Given the description of an element on the screen output the (x, y) to click on. 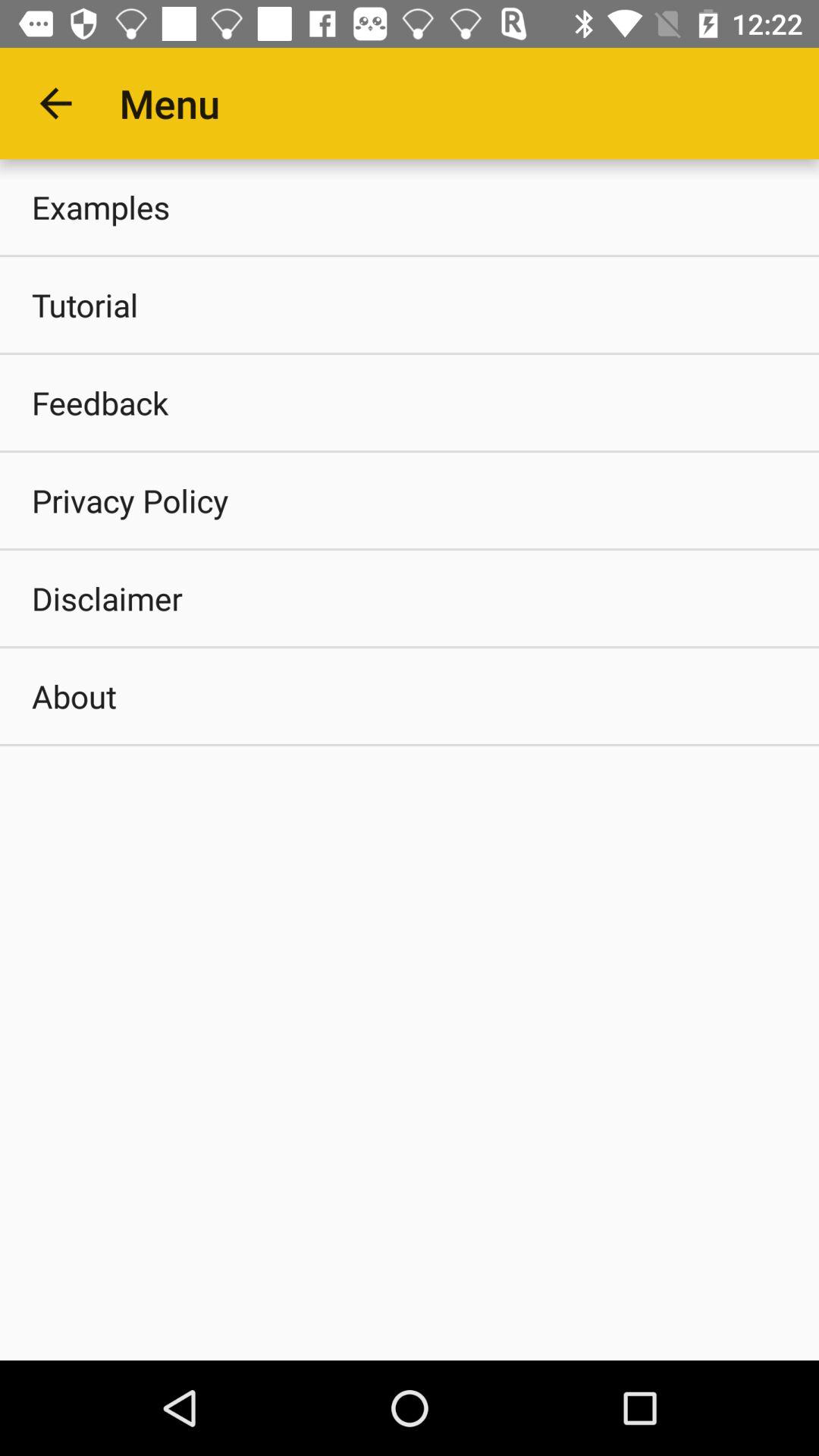
select the item above about (409, 598)
